Given the description of an element on the screen output the (x, y) to click on. 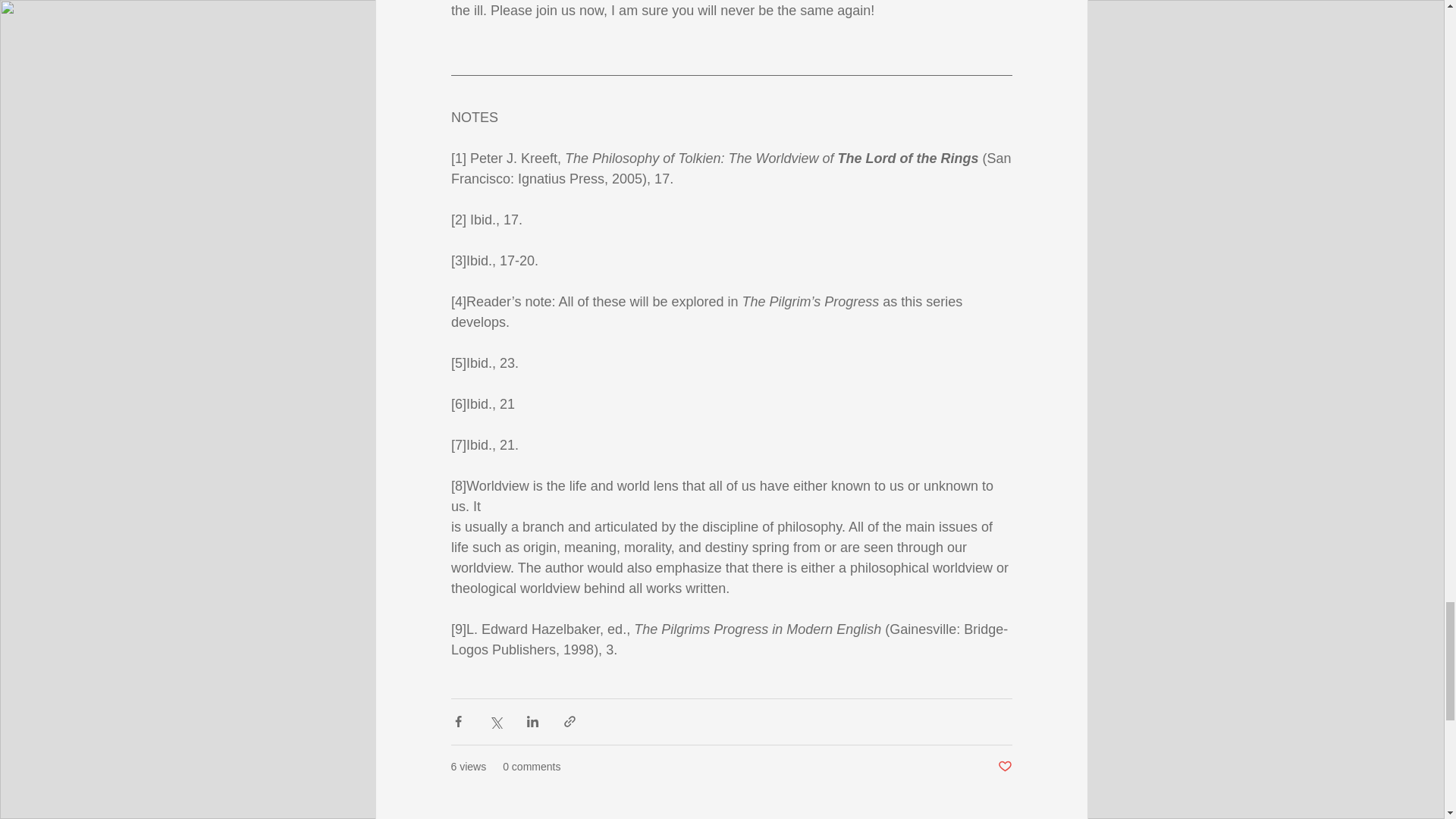
Post not marked as liked (1004, 766)
